Given the description of an element on the screen output the (x, y) to click on. 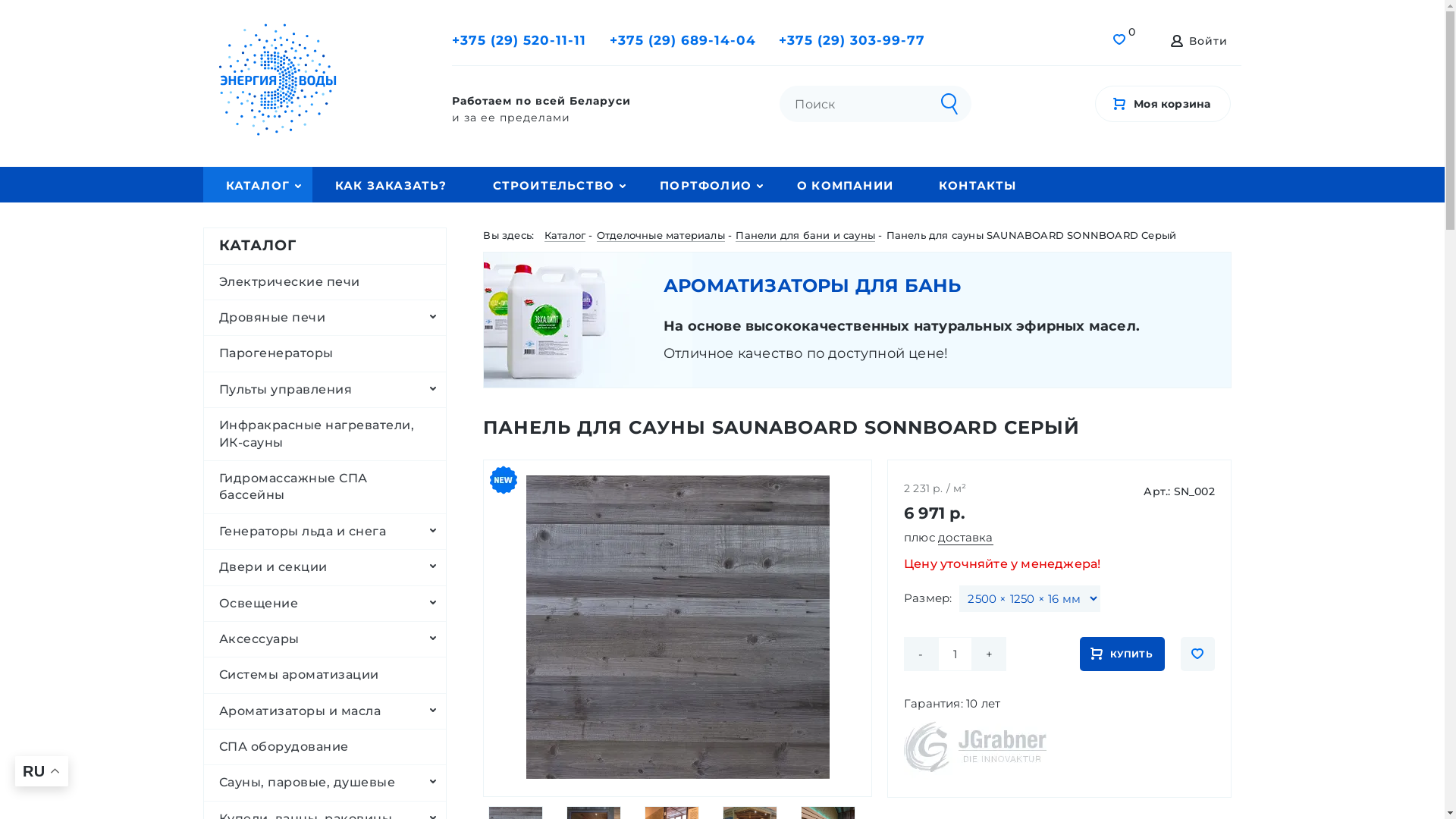
- Element type: text (920, 654)
J Grabner Element type: hover (974, 746)
+ Element type: text (989, 654)
+375 (29) 303-99-77 Element type: text (851, 40)
+375 (29) 689-14-04 Element type: text (682, 40)
+375 (29) 520-11-11 Element type: text (518, 40)
